Given the description of an element on the screen output the (x, y) to click on. 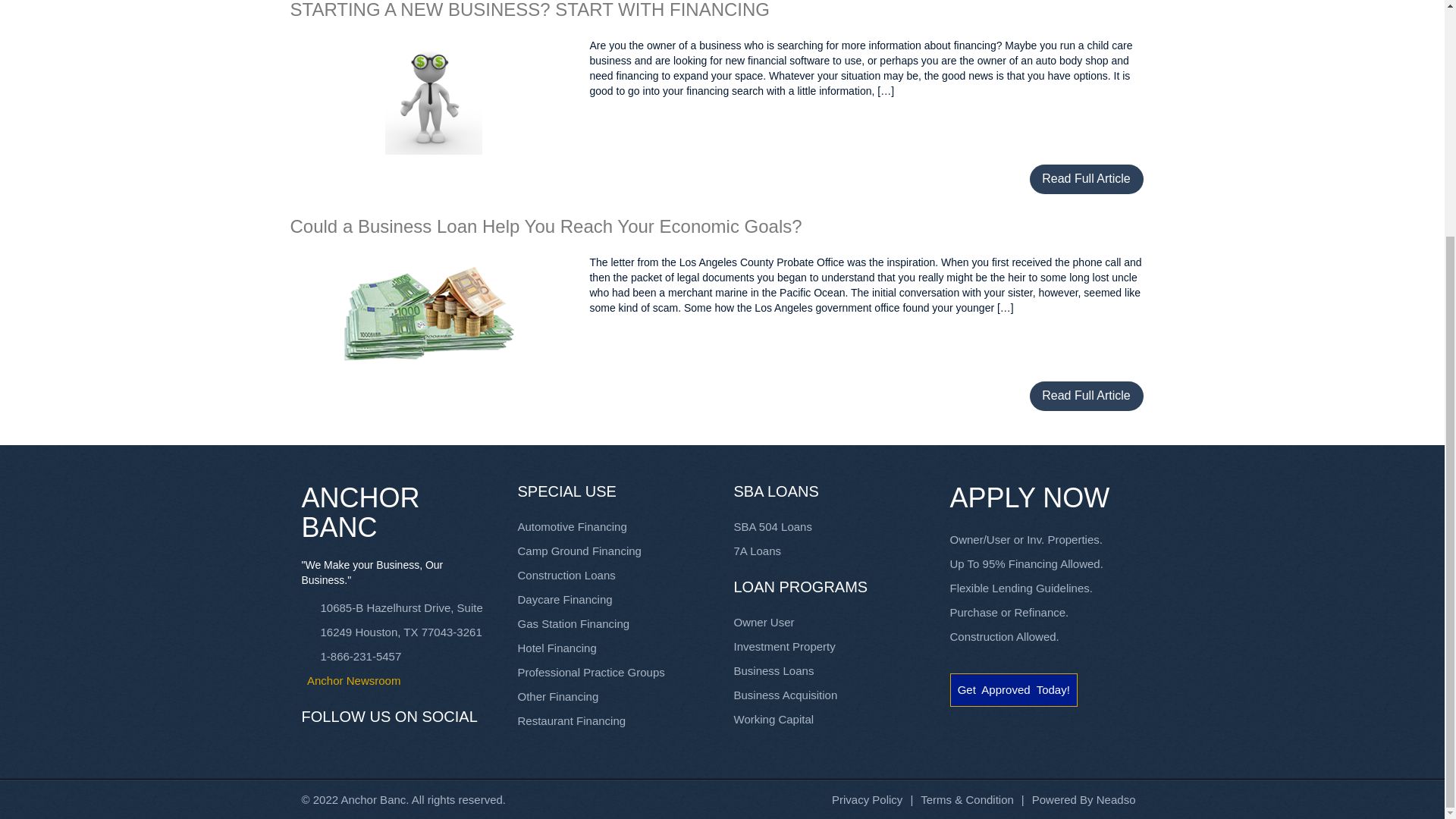
Construction Loans (565, 574)
SBA 504 Loans (772, 526)
Professional Practice Groups (589, 671)
Restaurant Financing (571, 720)
Daycare Financing (563, 599)
7A Loans (757, 550)
Gas Station Financing (572, 623)
Could a Business Loan Help You Reach Your Economic Goals? (545, 226)
Hotel Financing (555, 647)
  Anchor Newsroom (398, 680)
Read Full Article (1085, 396)
Automotive Financing (571, 526)
STARTING A NEW BUSINESS? START WITH FINANCING (529, 9)
Camp Ground Financing (578, 550)
Other Financing (557, 696)
